Given the description of an element on the screen output the (x, y) to click on. 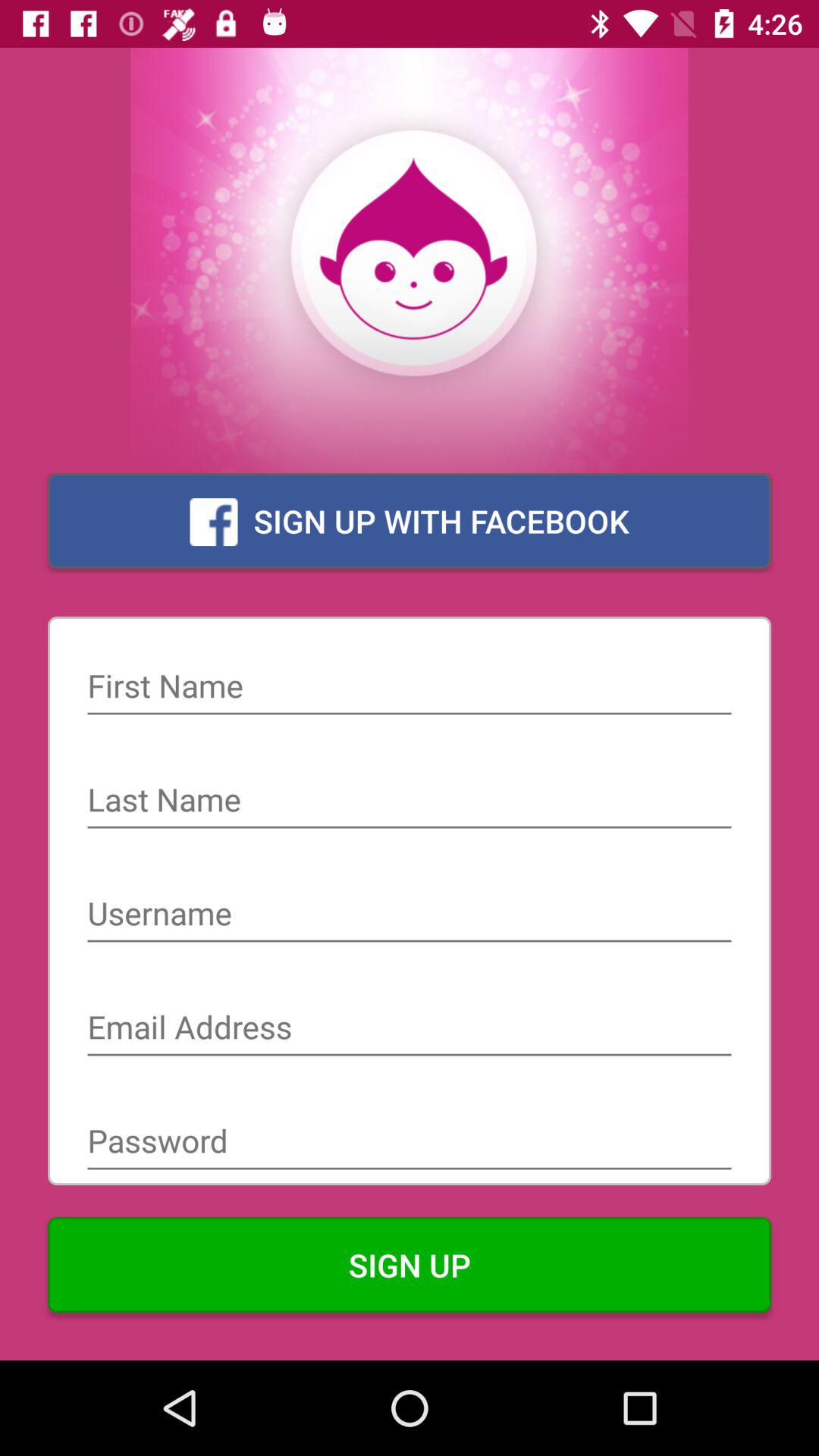
enter text (409, 801)
